Given the description of an element on the screen output the (x, y) to click on. 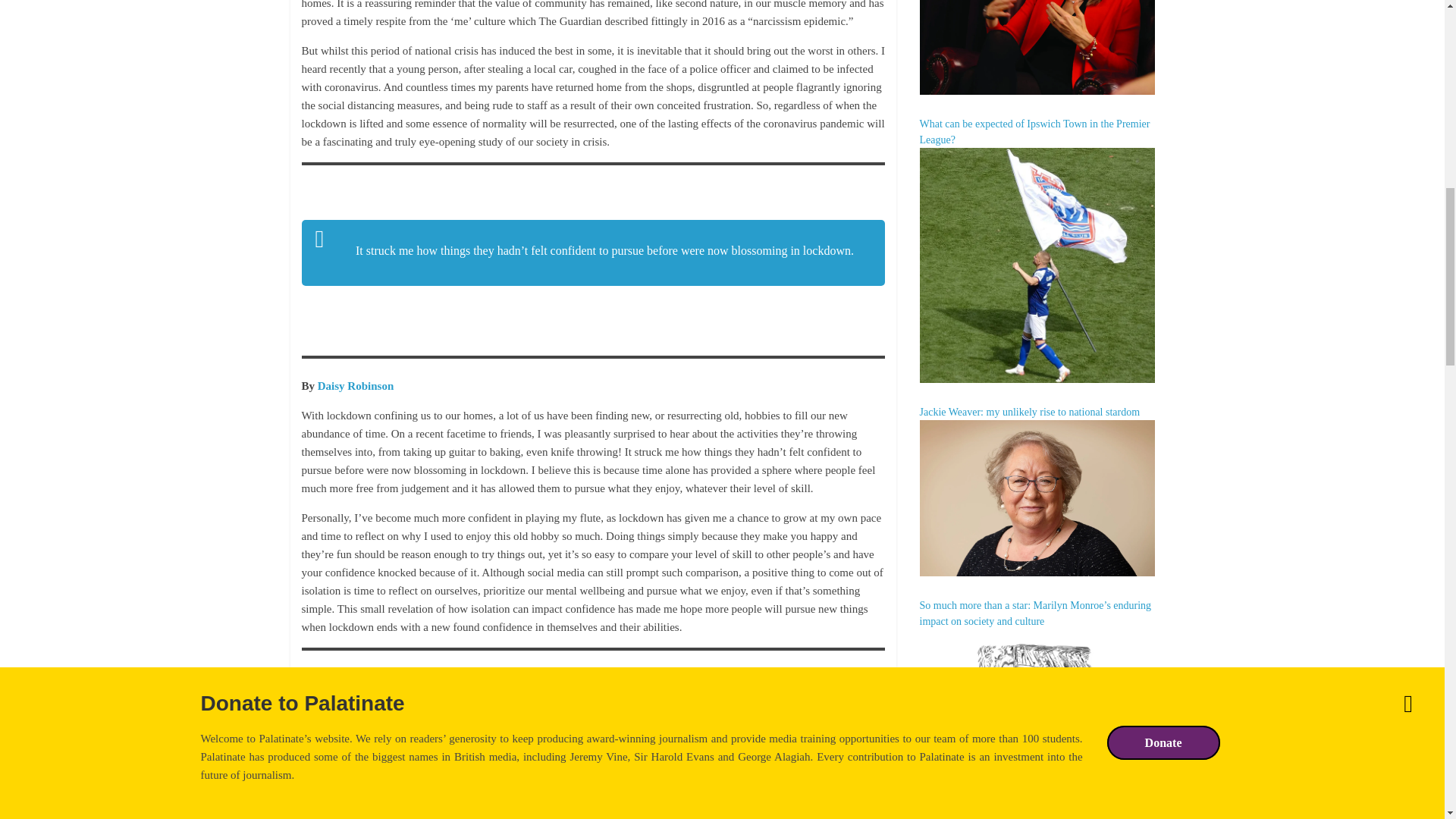
Posts tagged with Daisy Robinson (355, 386)
